Given the description of an element on the screen output the (x, y) to click on. 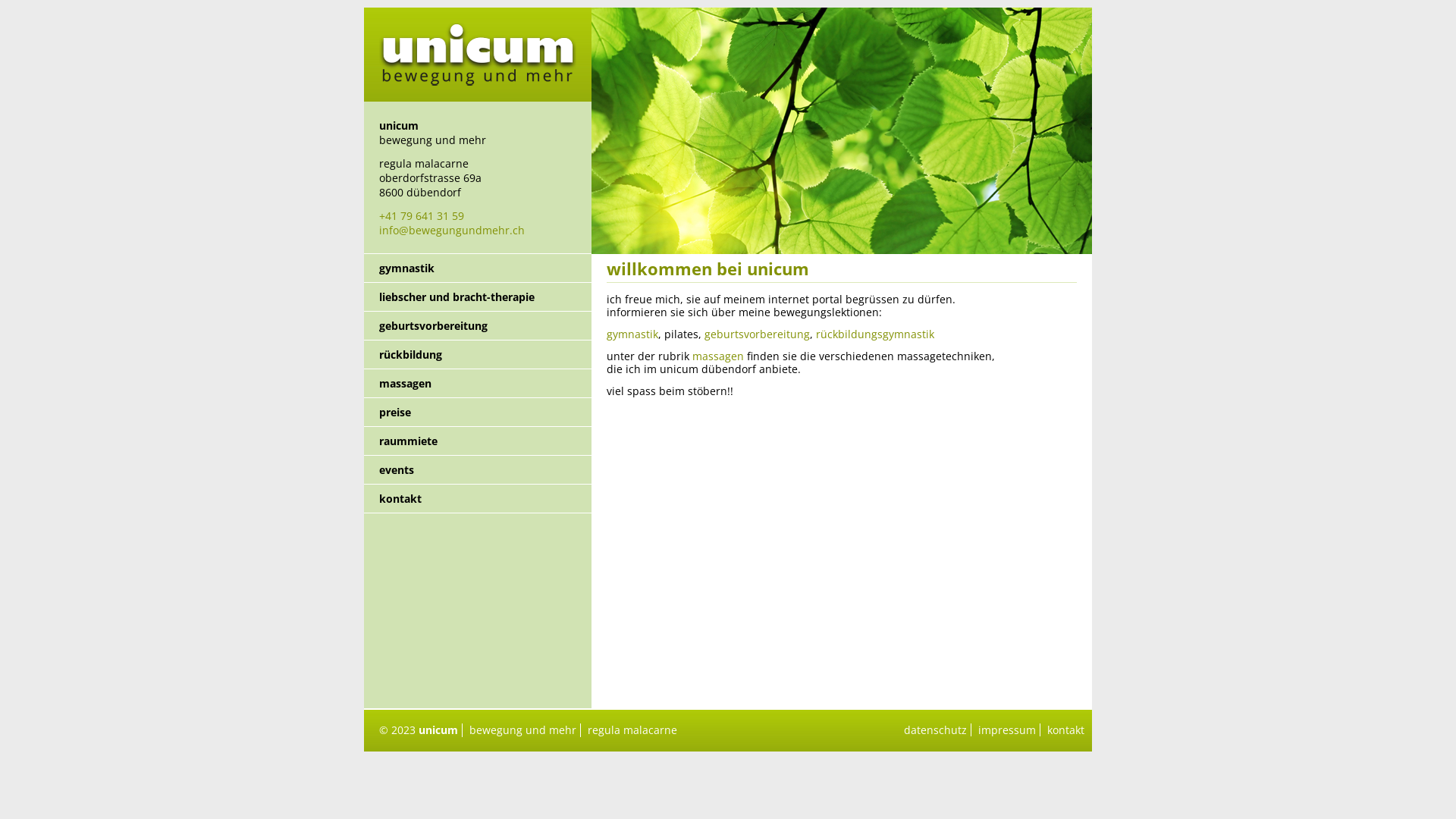
geburtsvorbereitung Element type: text (477, 325)
massagen Element type: text (717, 355)
raummiete Element type: text (477, 440)
impressum Element type: text (1006, 729)
kontakt Element type: text (1065, 729)
preise Element type: text (477, 412)
kontakt Element type: text (477, 498)
massagen Element type: text (477, 383)
info@bewegungundmehr.ch Element type: text (451, 229)
unicum - bewegung und mehr Element type: hover (477, 97)
+41 79 641 31 59 Element type: text (421, 215)
datenschutz Element type: text (934, 729)
gymnastik Element type: text (632, 333)
gymnastik Element type: text (477, 267)
events Element type: text (477, 469)
liebscher und bracht-therapie Element type: text (477, 296)
geburtsvorbereitung Element type: text (756, 333)
